Given the description of an element on the screen output the (x, y) to click on. 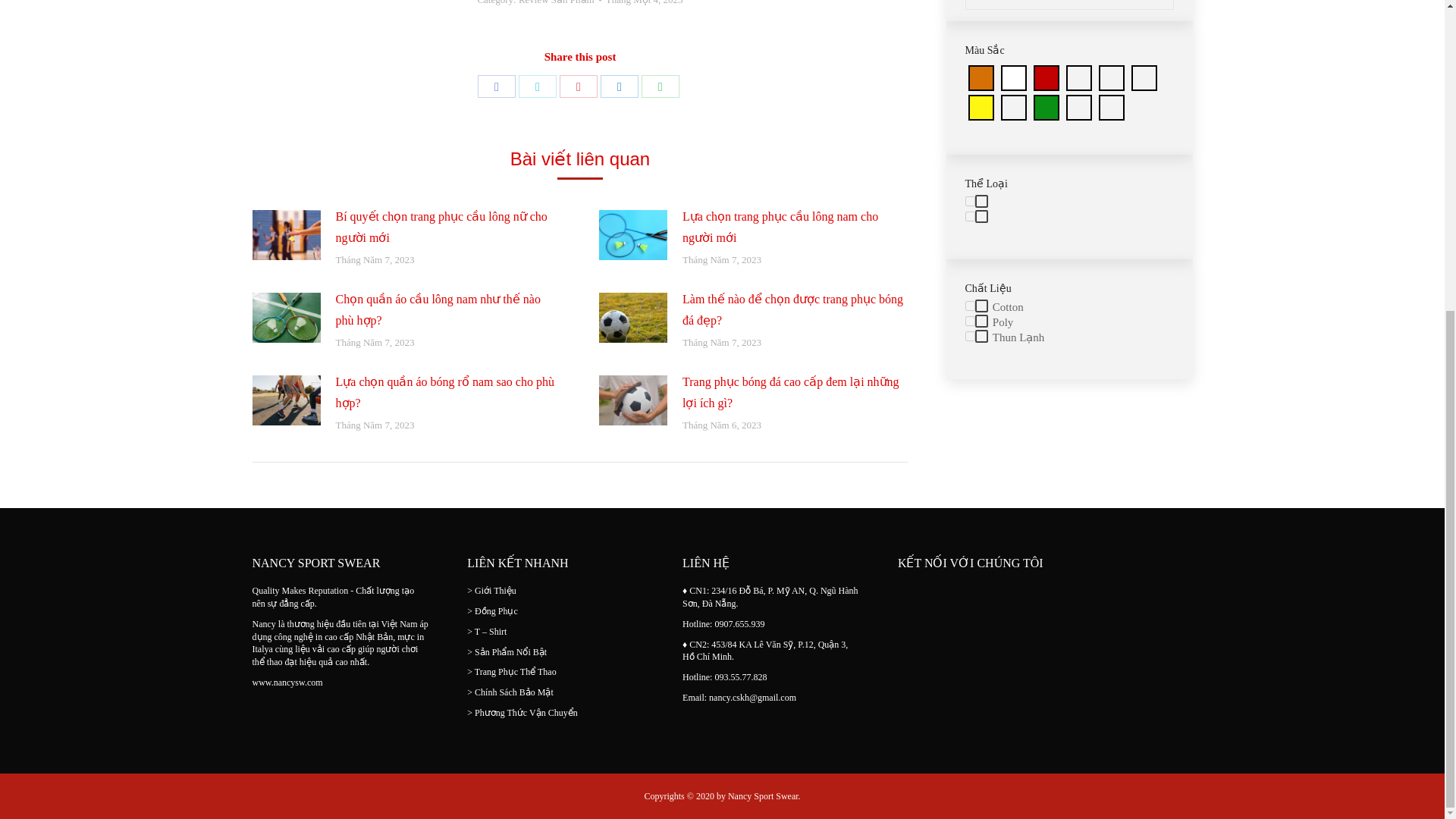
Twitter (537, 86)
Pinterest (577, 86)
on (968, 320)
LinkedIn (619, 86)
WhatsApp (660, 86)
on (968, 306)
on (968, 201)
on (968, 336)
Facebook (496, 86)
on (968, 216)
